Given the description of an element on the screen output the (x, y) to click on. 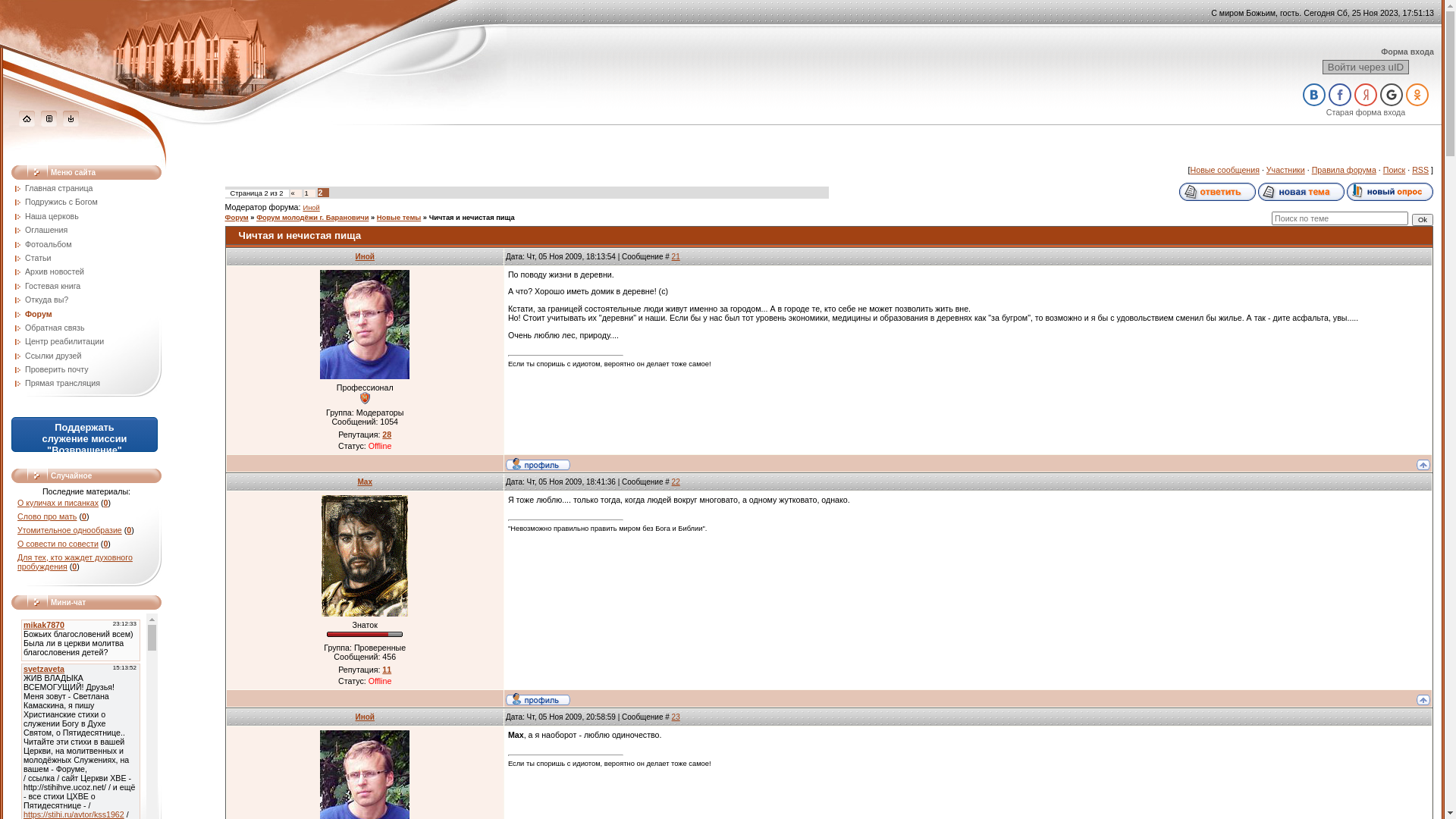
0 Element type: text (105, 502)
0 Element type: text (105, 543)
28 Element type: text (386, 434)
23 Element type: text (675, 716)
21 Element type: text (675, 256)
1 Element type: text (305, 193)
Ok Element type: text (1422, 219)
11 Element type: text (386, 669)
22 Element type: text (675, 481)
0 Element type: text (74, 566)
Max Element type: text (364, 481)
Max Element type: hover (364, 555)
0 Element type: text (83, 515)
0 Element type: text (128, 529)
RSS Element type: text (1420, 169)
